Given the description of an element on the screen output the (x, y) to click on. 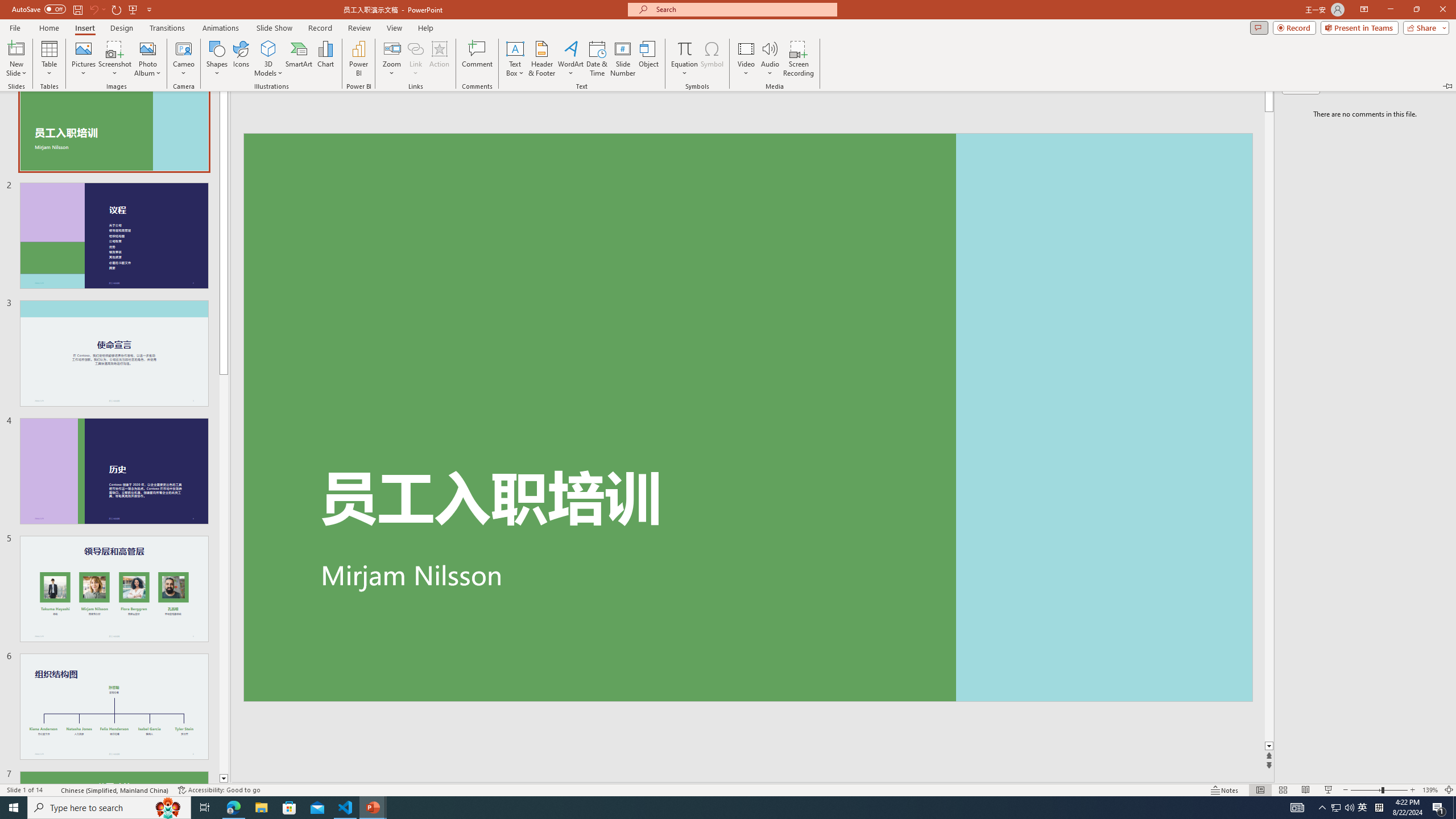
Type here to search (1362, 807)
Visual Studio Code - 1 running window (108, 807)
Spell Check  (345, 807)
Accessibility Checker Accessibility: Good to go (52, 790)
PowerPoint - 2 running windows (218, 790)
